Given the description of an element on the screen output the (x, y) to click on. 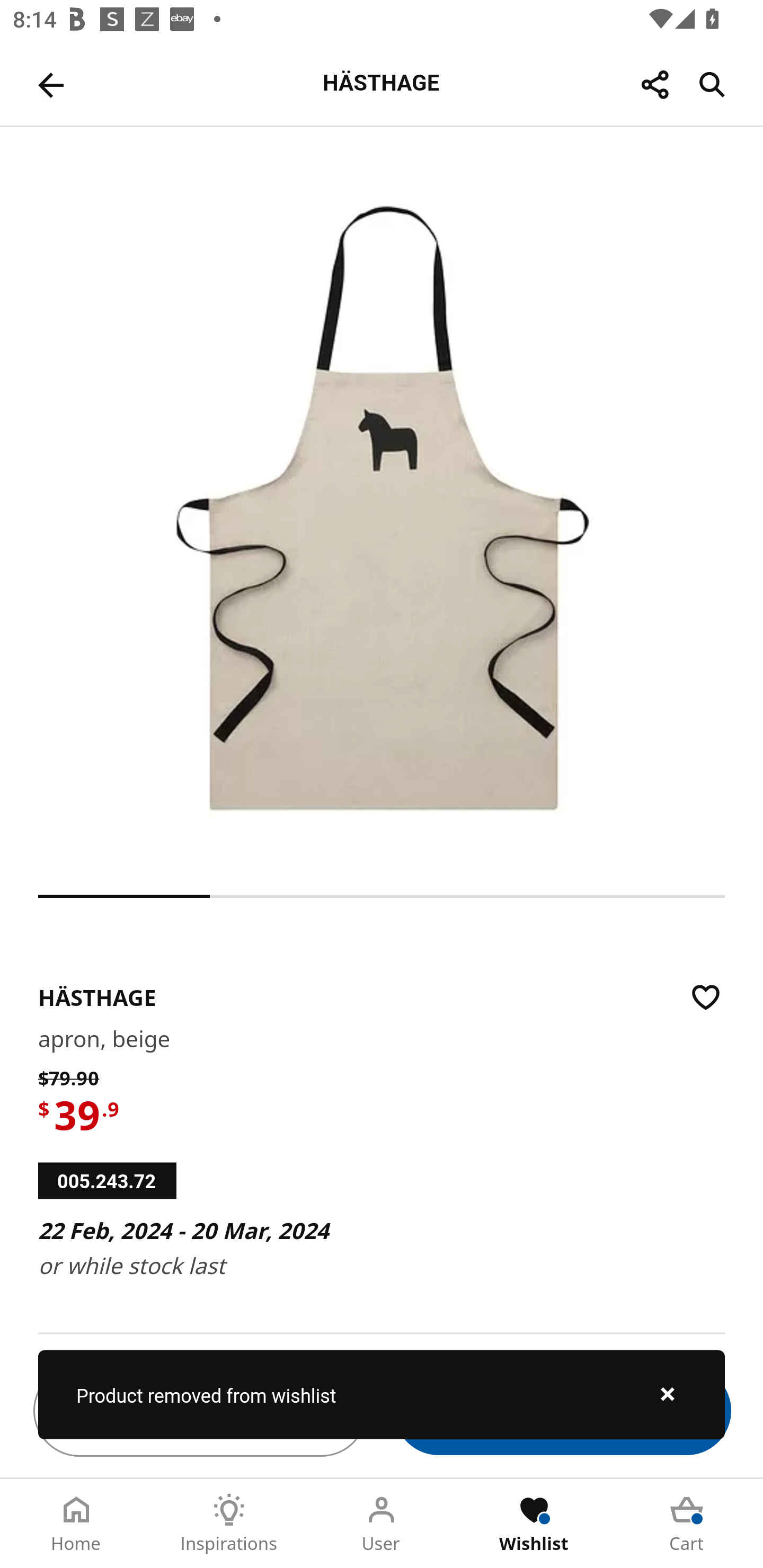
Product removed from wishlist (381, 1394)
Home
Tab 1 of 5 (76, 1522)
Inspirations
Tab 2 of 5 (228, 1522)
User
Tab 3 of 5 (381, 1522)
Wishlist
Tab 4 of 5 (533, 1522)
Cart
Tab 5 of 5 (686, 1522)
